Given the description of an element on the screen output the (x, y) to click on. 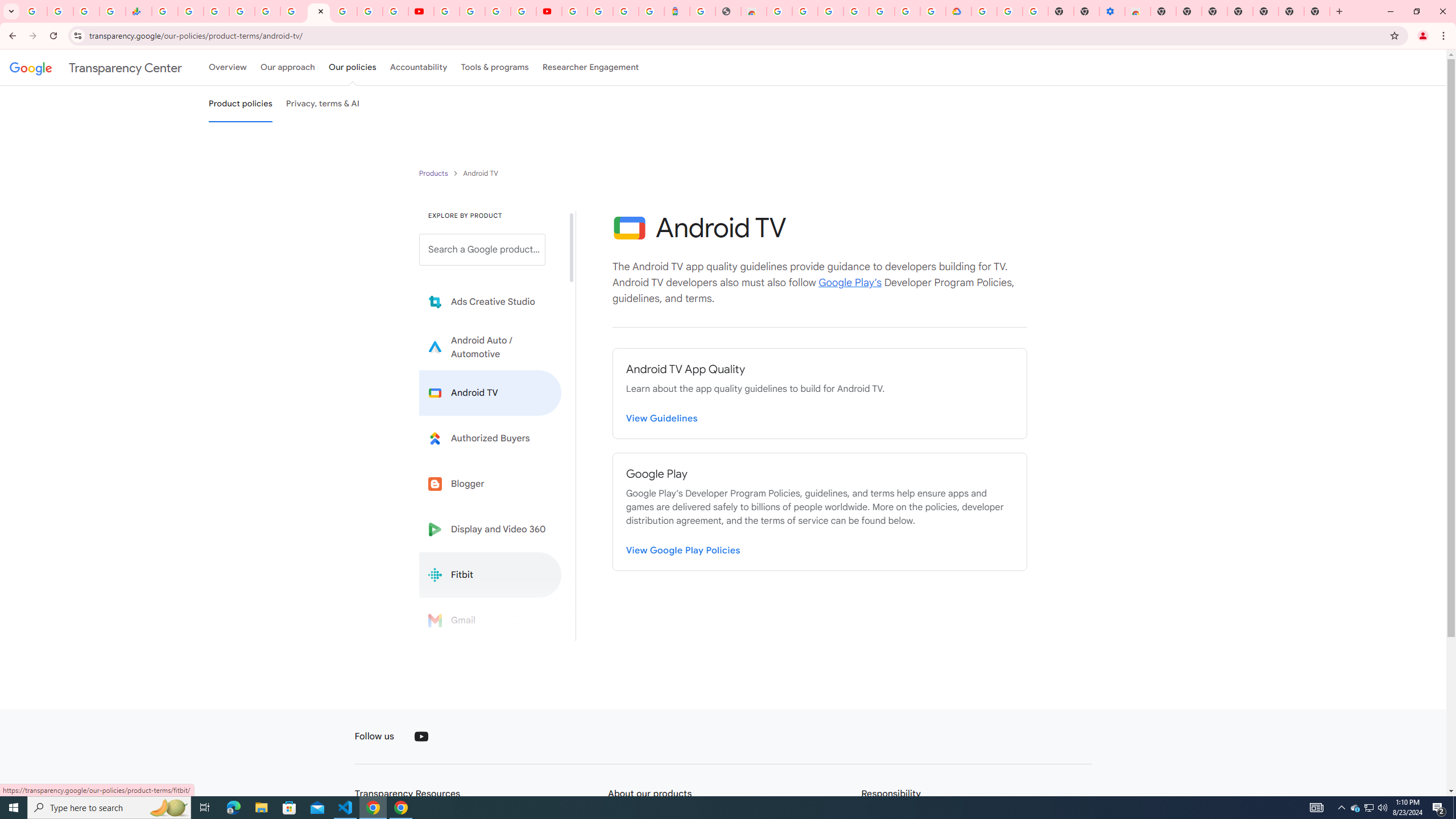
Fitbit (490, 574)
YouTube (421, 11)
Sign in - Google Accounts (830, 11)
Search a Google product from below list. (481, 249)
Sign in - Google Accounts (574, 11)
Settings - Accessibility (1111, 11)
Content Creator Programs & Opportunities - YouTube Creators (548, 11)
Sign in - Google Accounts (344, 11)
Fitbit (490, 574)
Atour Hotel - Google hotels (676, 11)
